Given the description of an element on the screen output the (x, y) to click on. 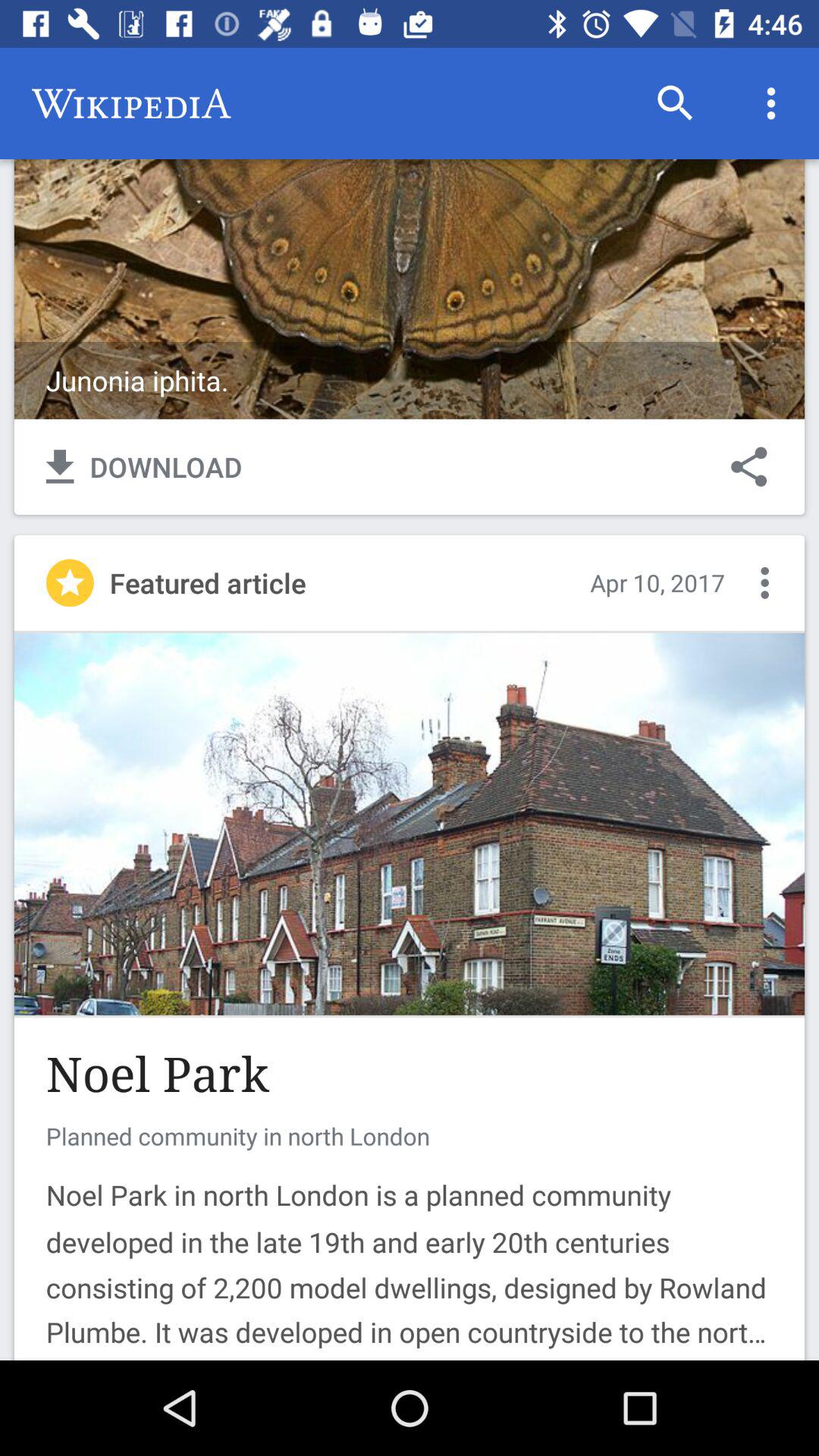
tap icon to the right of download icon (748, 466)
